Given the description of an element on the screen output the (x, y) to click on. 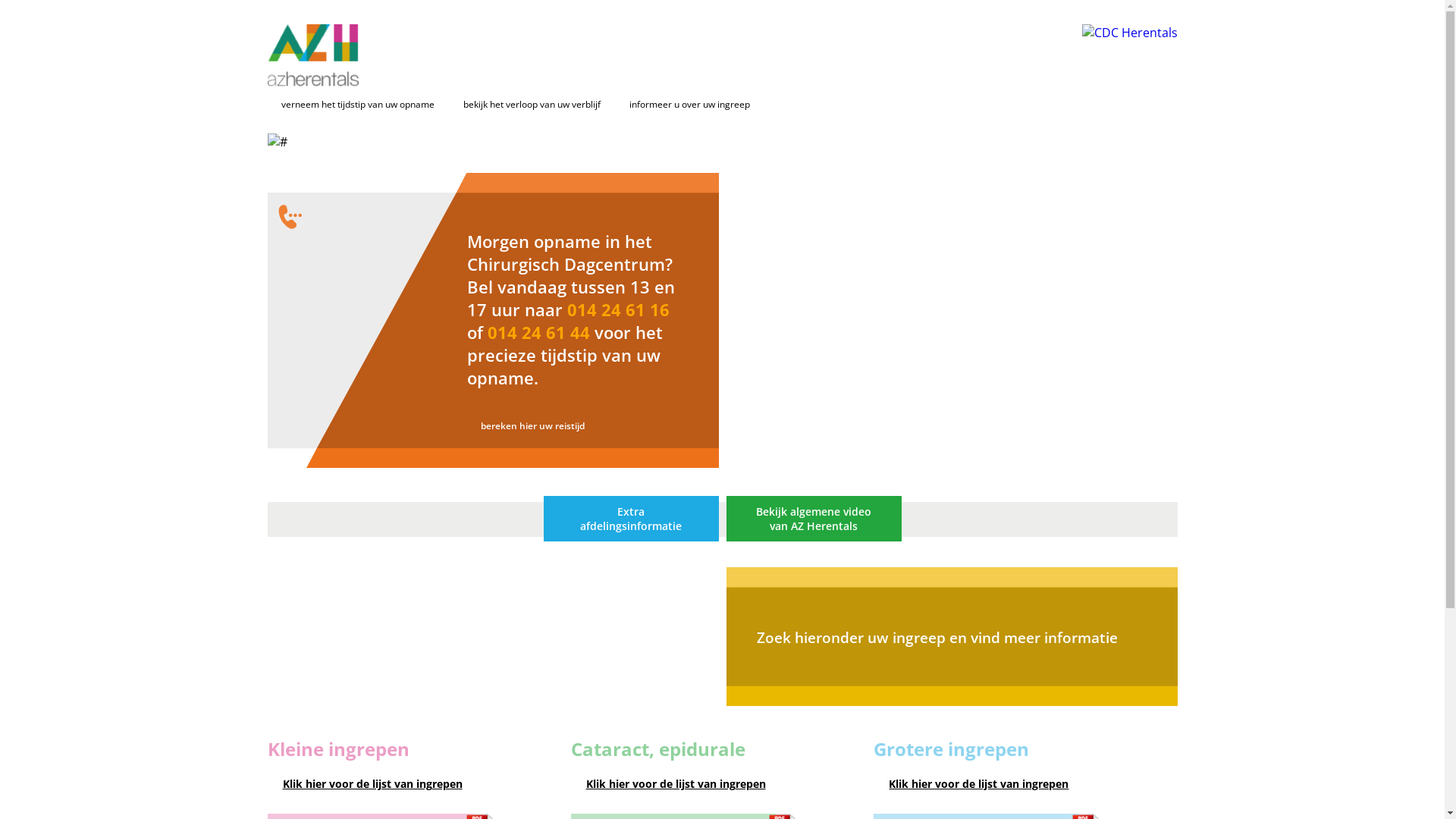
verneem het tijdstip van uw opname Element type: text (349, 103)
Bekijk algemene video
van AZ Herentals Element type: text (812, 518)
bekijk het verloop van uw verblijf Element type: text (523, 103)
CDC Herentals Element type: hover (1128, 32)
bereken hier uw reistijd Element type: text (525, 425)
informeer u over uw ingreep Element type: text (682, 103)
# Element type: hover (366, 319)
Extra
afdelingsinformatie Element type: text (630, 518)
# Element type: hover (276, 141)
AZ Herentals Element type: hover (311, 55)
